Given the description of an element on the screen output the (x, y) to click on. 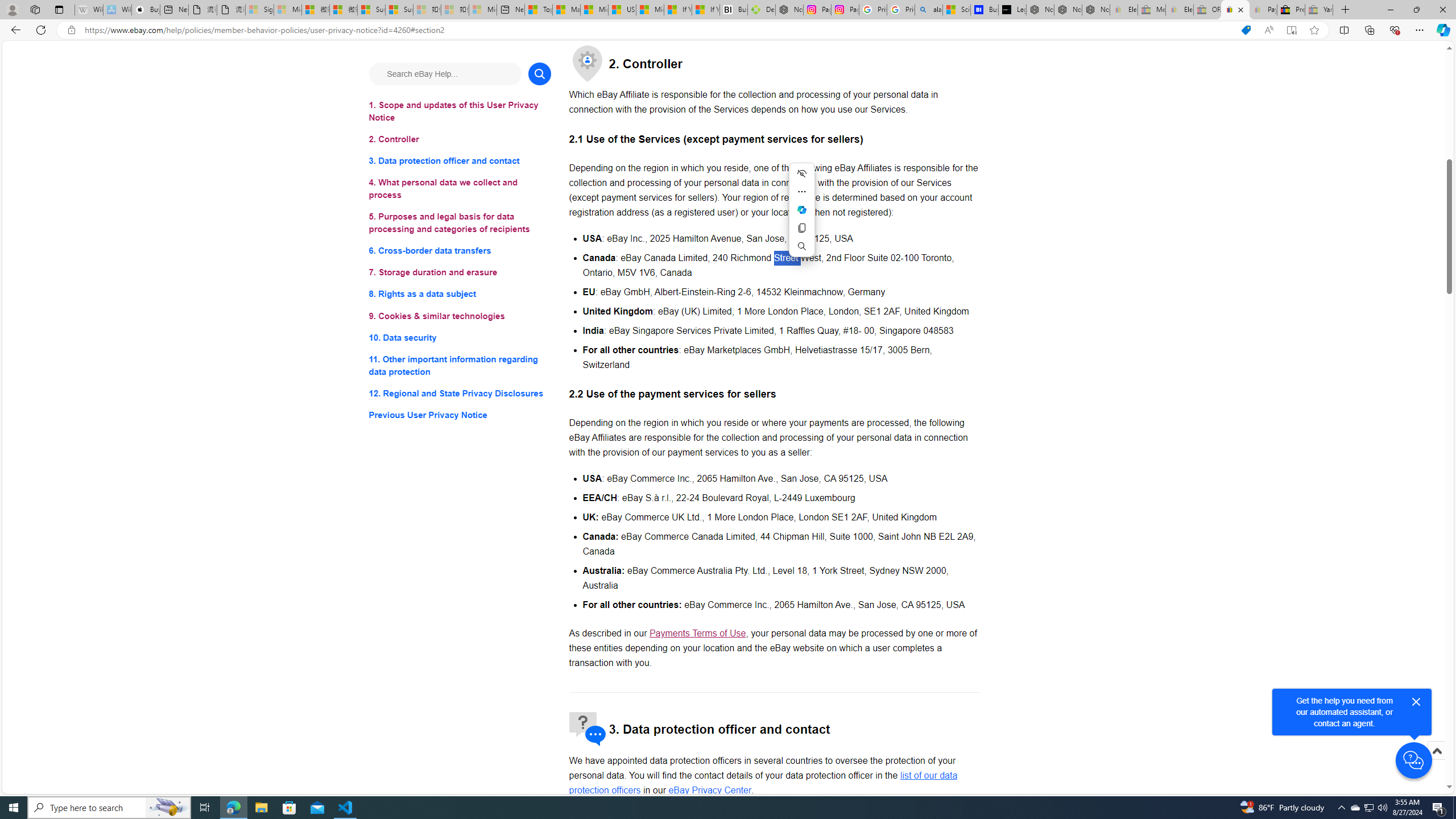
10. Data security (459, 336)
4. What personal data we collect and process (459, 189)
1. Scope and updates of this User Privacy Notice (459, 111)
